Given the description of an element on the screen output the (x, y) to click on. 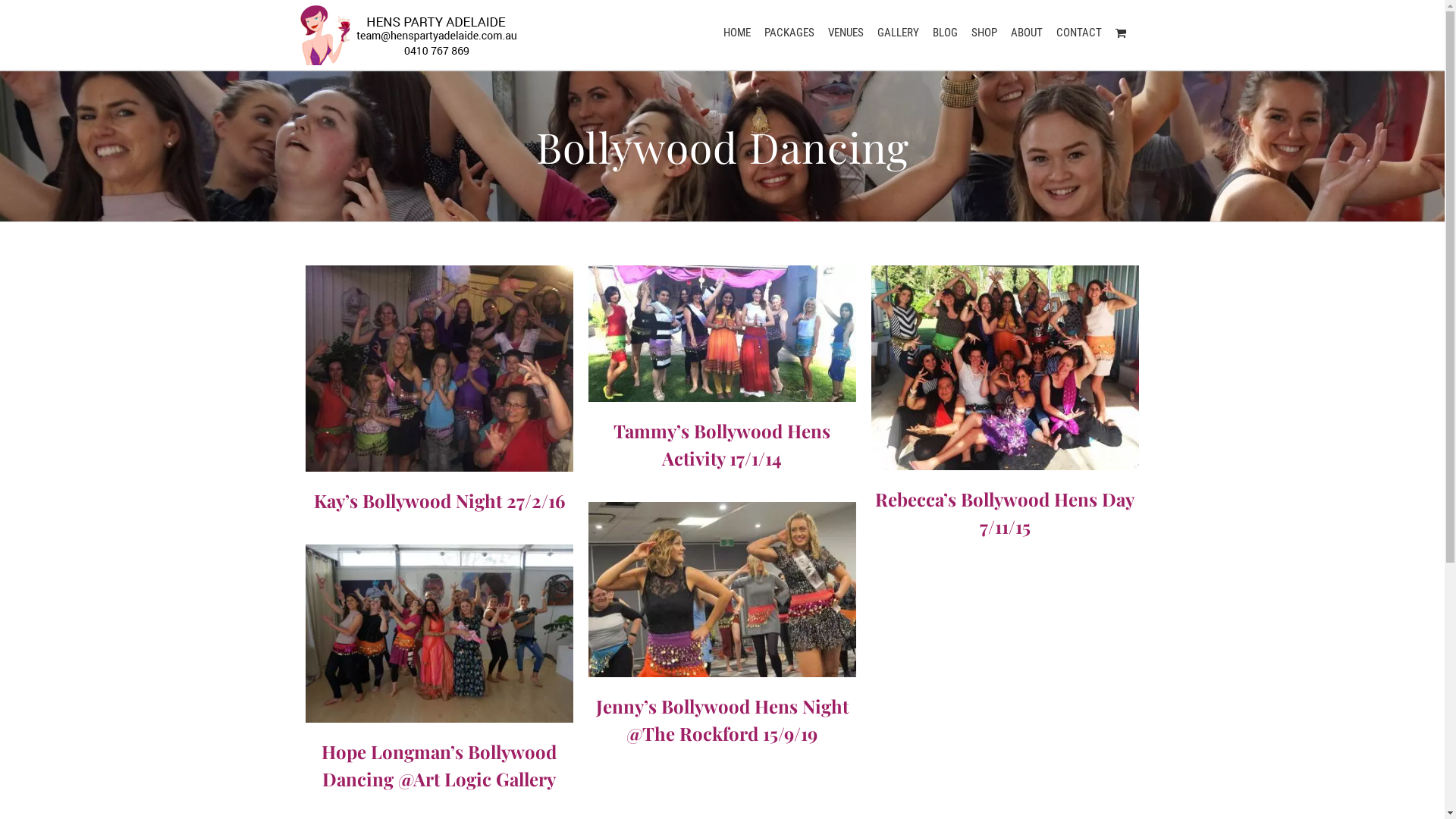
GALLERY Element type: text (897, 31)
SHOP Element type: text (983, 31)
CONTACT Element type: text (1078, 31)
VENUES Element type: text (845, 31)
HOME Element type: text (736, 31)
PACKAGES Element type: text (789, 31)
BLOG Element type: text (944, 31)
ABOUT Element type: text (1025, 31)
